Given the description of an element on the screen output the (x, y) to click on. 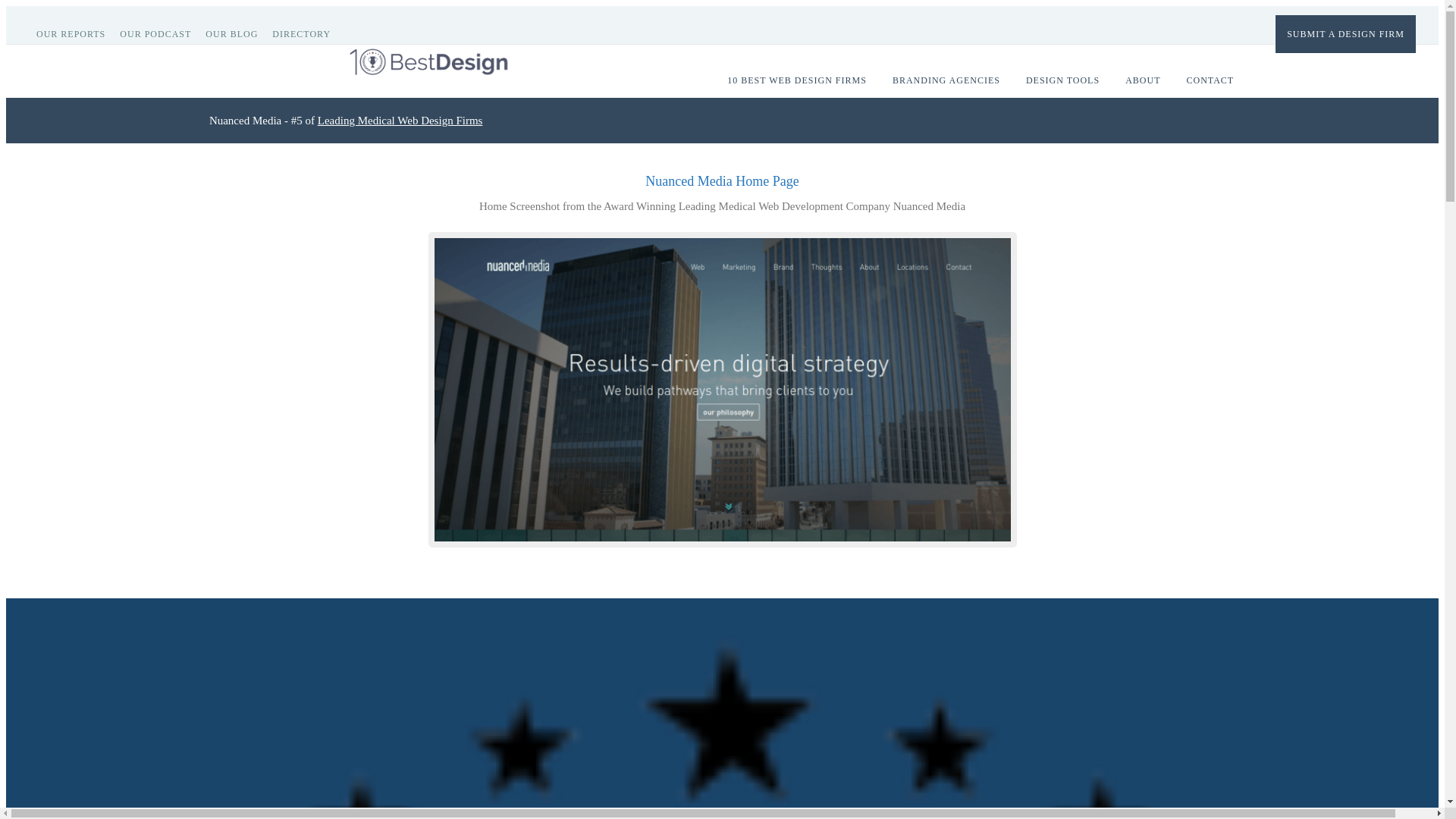
DIRECTORY (307, 33)
OUR REPORTS (76, 33)
OUR BLOG (237, 33)
SUBMIT A DESIGN FIRM (1345, 33)
OUR PODCAST (160, 33)
Leading Medical Web Development Companies (400, 120)
